Given the description of an element on the screen output the (x, y) to click on. 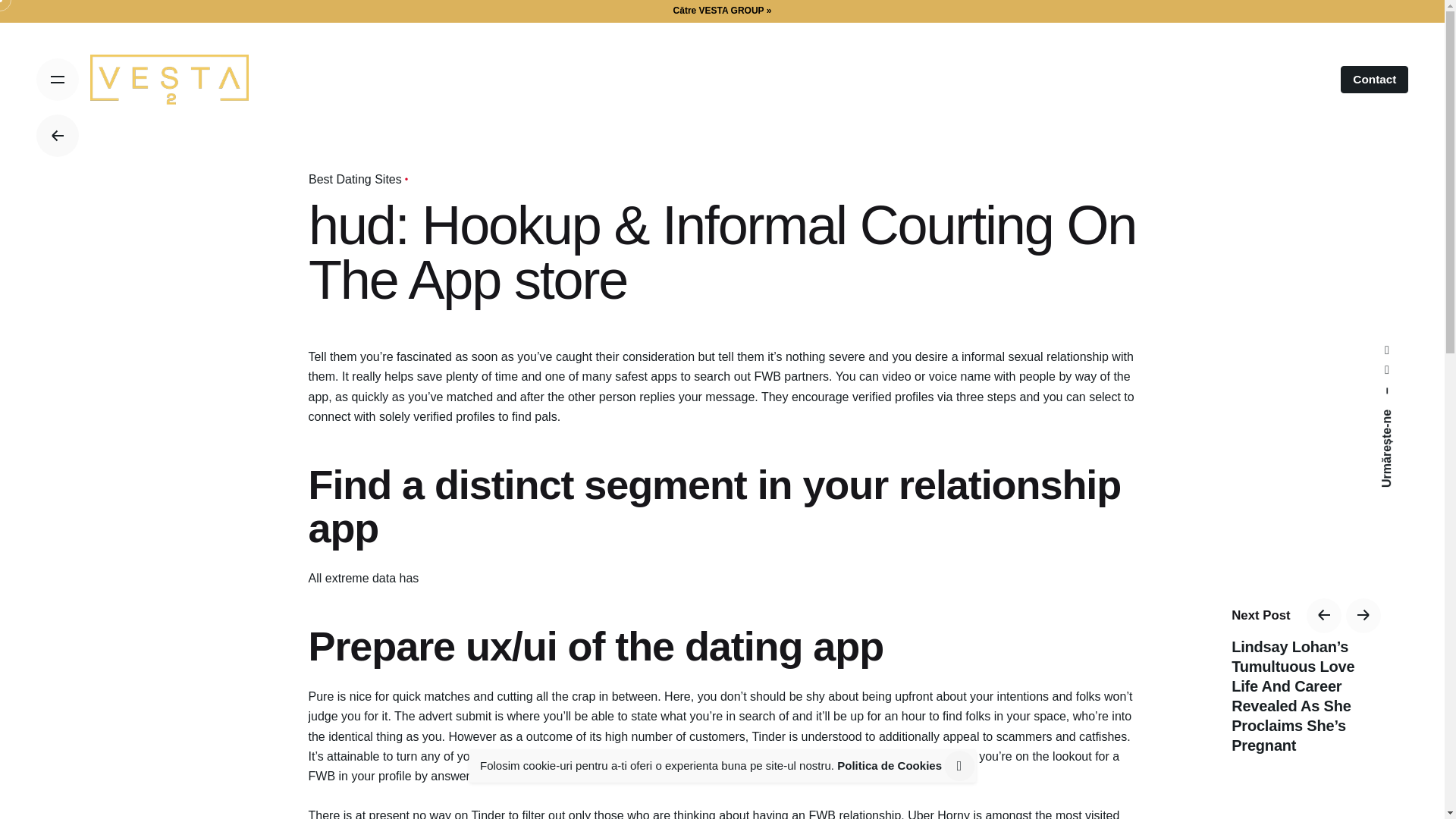
Contact (1373, 79)
Politica de Cookies (889, 765)
Best Dating Sites (354, 178)
